Given the description of an element on the screen output the (x, y) to click on. 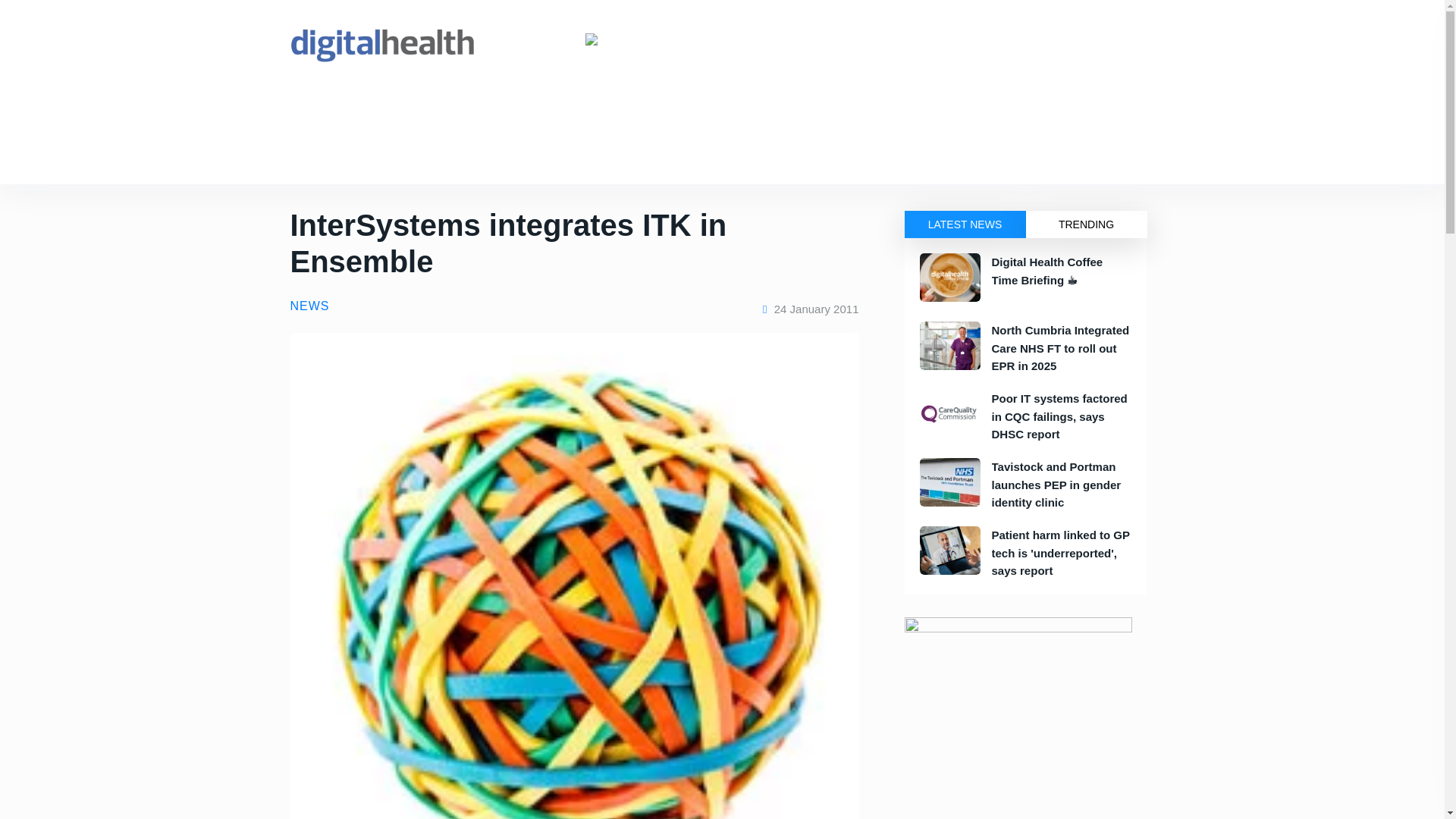
About Us (584, 104)
Special Reports (578, 157)
Networks (517, 104)
Case Studies (431, 157)
Topics (305, 157)
Opinion (361, 157)
Podcast (502, 157)
Events (382, 104)
Webinars (658, 157)
News (330, 104)
Intelligence (446, 104)
